Given the description of an element on the screen output the (x, y) to click on. 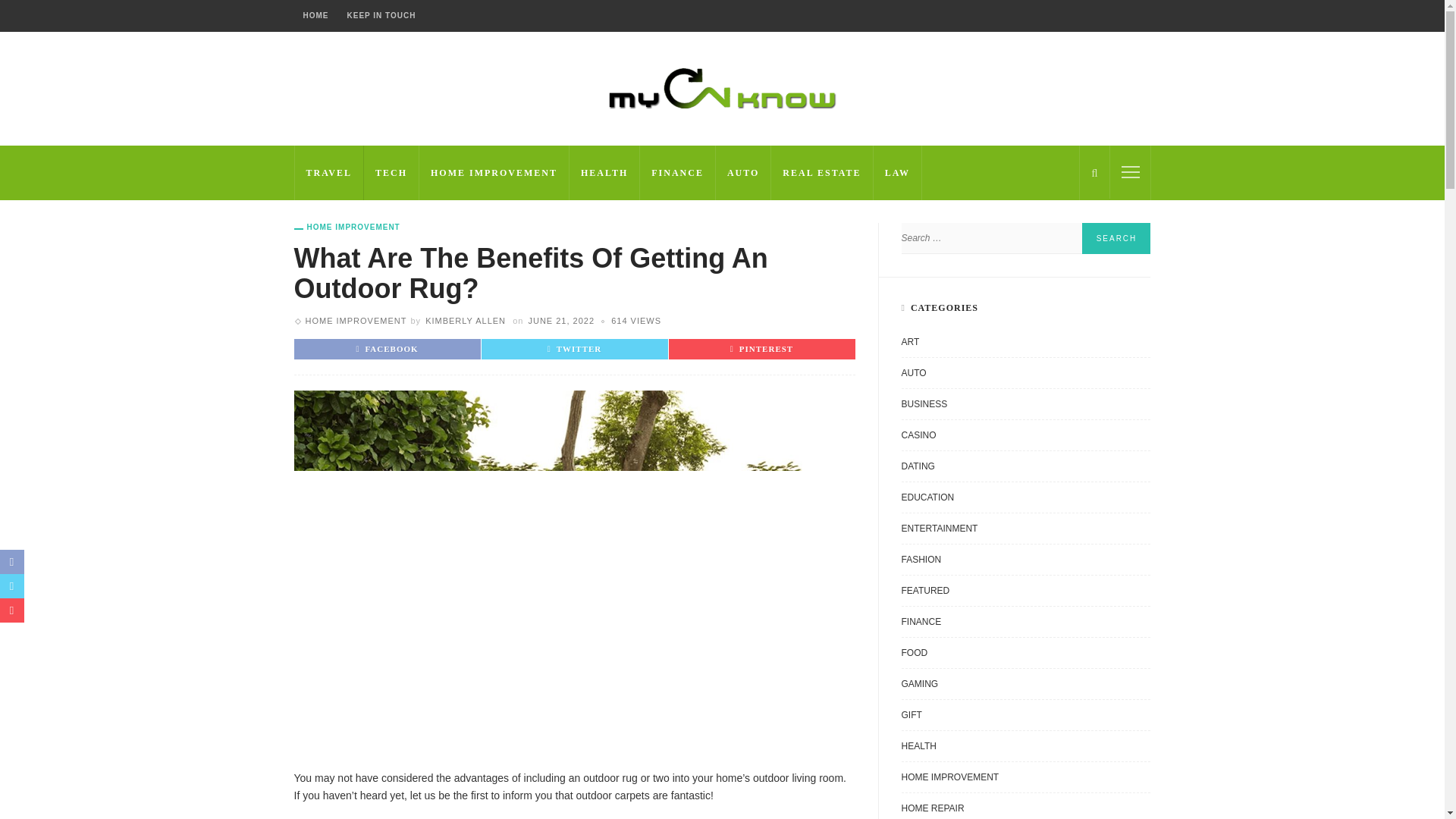
menu (1129, 171)
Search (1115, 237)
REAL ESTATE (821, 172)
HOME IMPROVEMENT (494, 172)
Home Improvement (347, 226)
HEALTH (604, 172)
HOME IMPROVEMENT (355, 320)
PINTEREST (761, 347)
KEEP IN TOUCH (381, 15)
TECH (391, 172)
FACEBOOK (386, 347)
HOME IMPROVEMENT (347, 226)
HOME (315, 15)
Home Improvement (355, 320)
TRAVEL (329, 172)
